Given the description of an element on the screen output the (x, y) to click on. 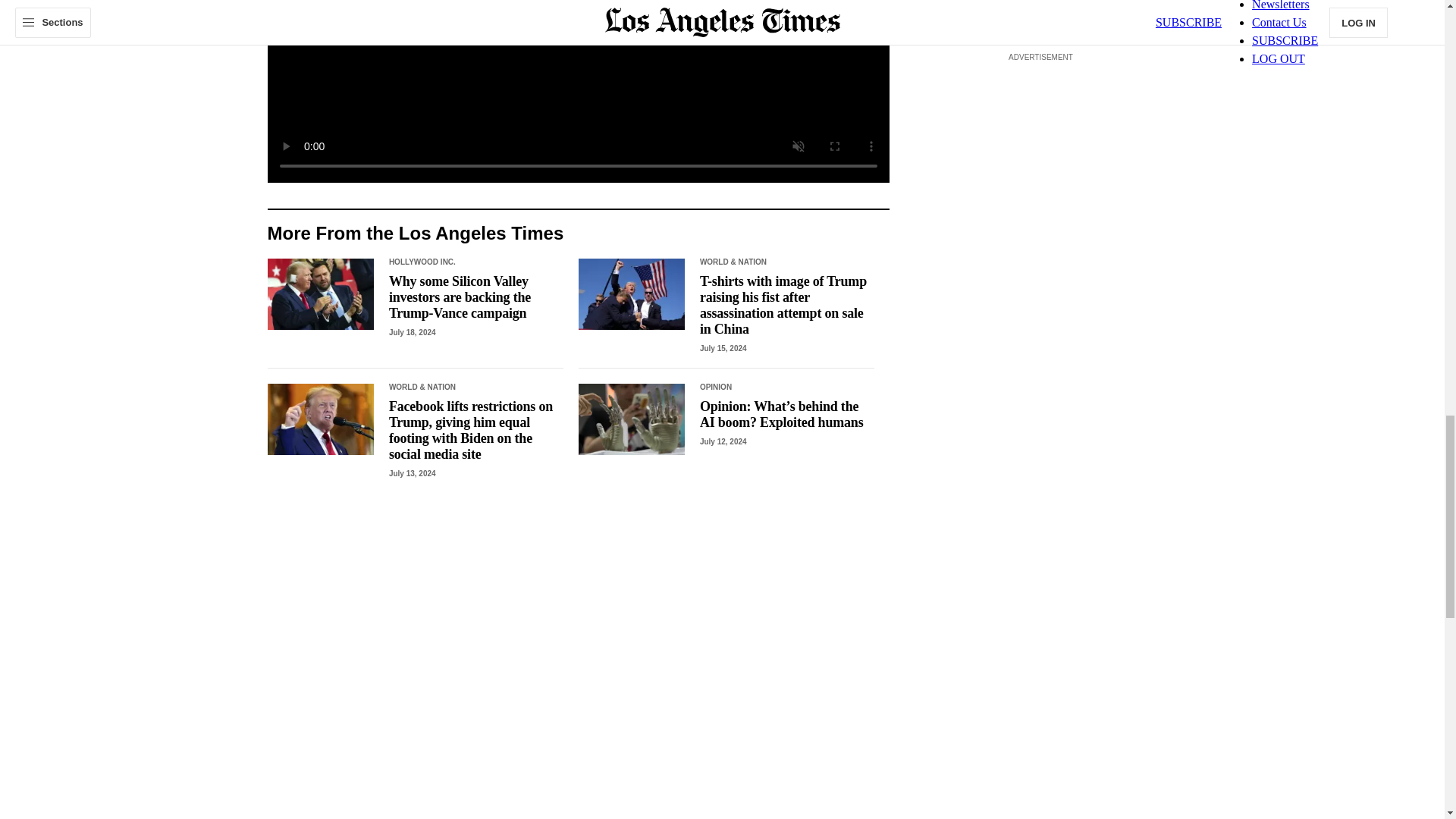
3rd party ad content (1040, 153)
